Given the description of an element on the screen output the (x, y) to click on. 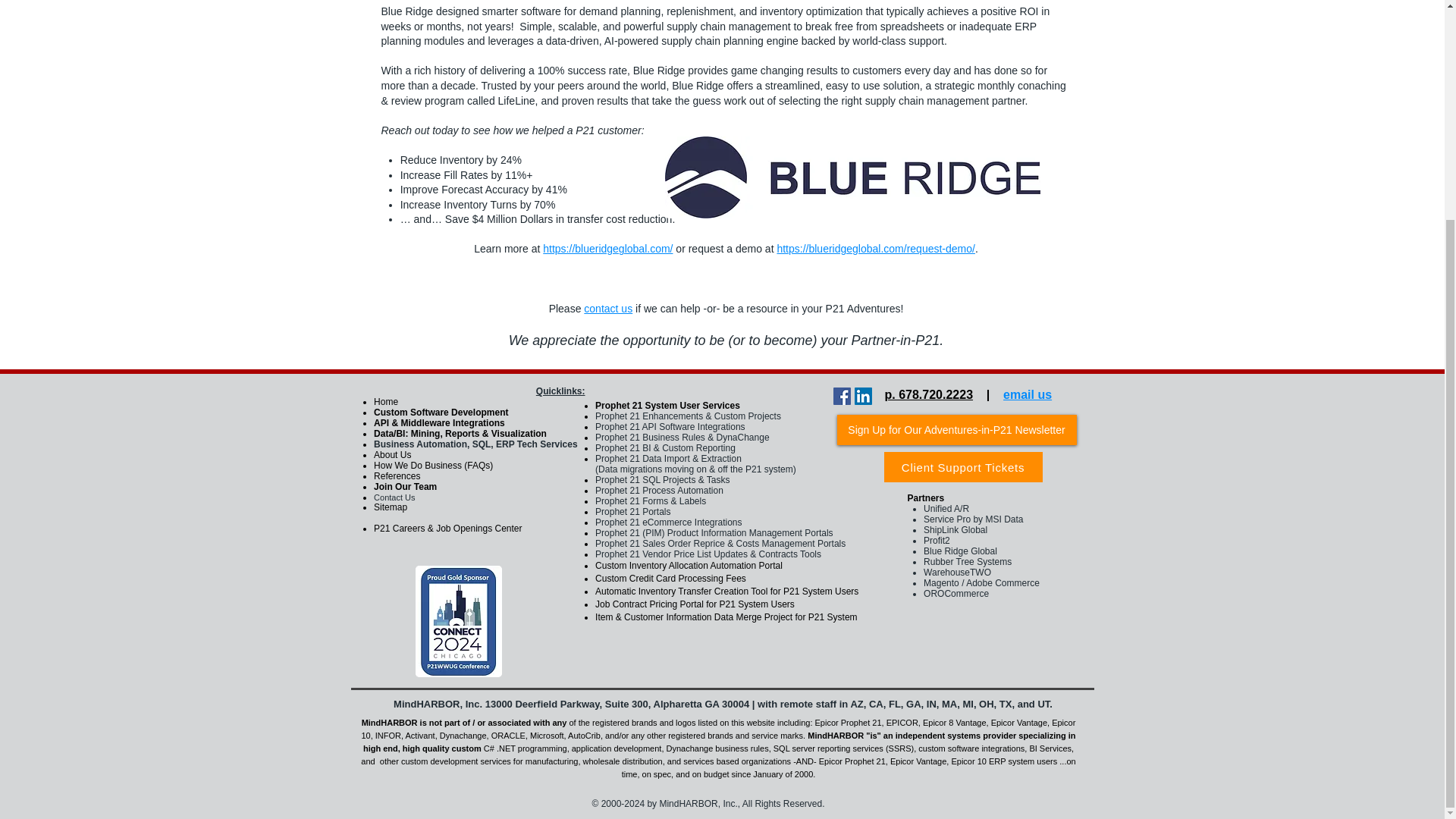
Home (385, 401)
Prophet 21 API Software Integrations (669, 426)
contact us (607, 308)
email us (1027, 394)
Custom Software Development (441, 412)
Join Our Team (405, 486)
Business Automation, SQL, ERP Tech Services (476, 443)
Sitemap (390, 507)
Prophet 21 System User Services (667, 405)
References (397, 475)
Contact Us (394, 497)
About Us (392, 454)
